Given the description of an element on the screen output the (x, y) to click on. 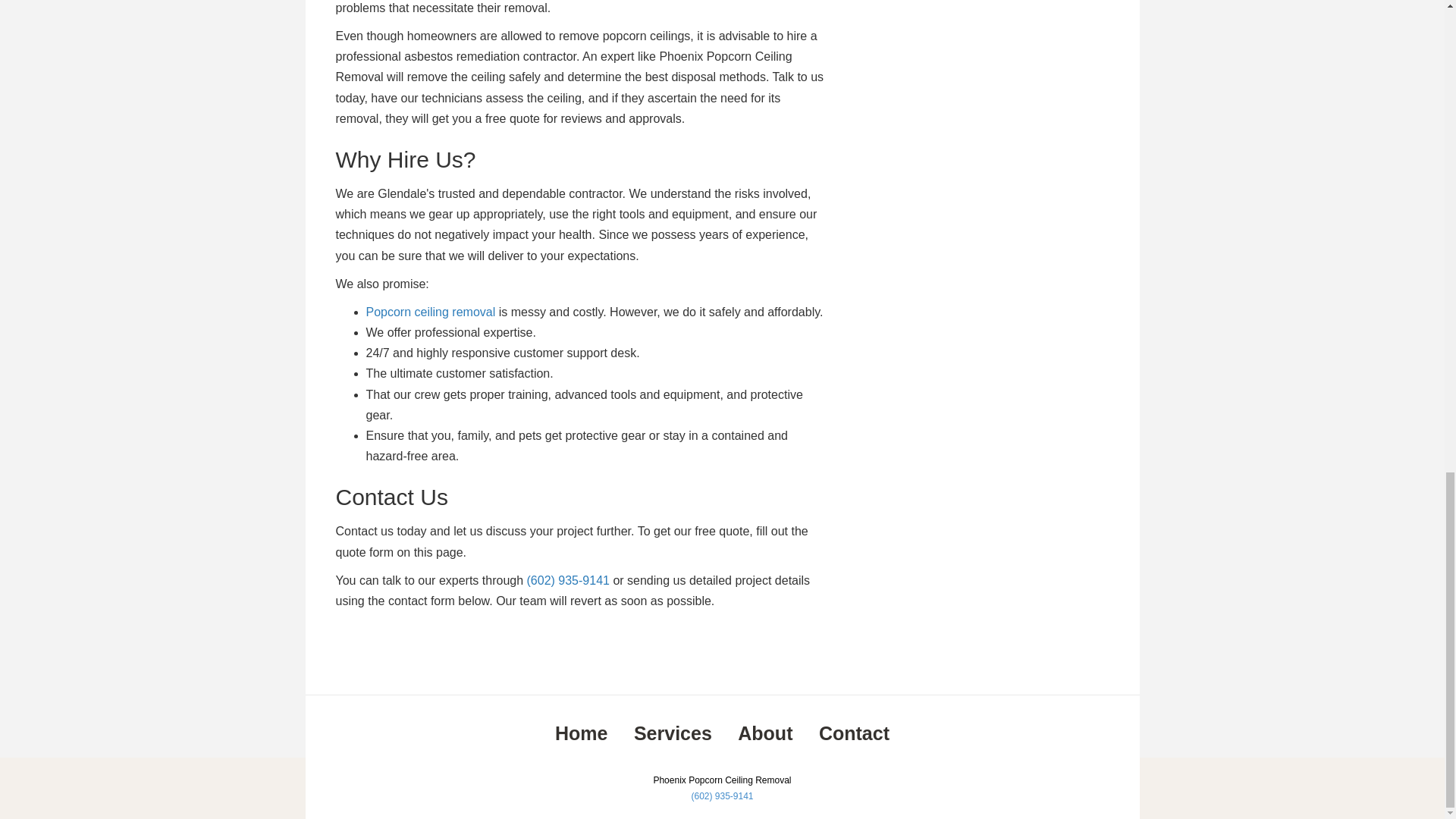
Home (580, 732)
Popcorn ceiling removal (430, 311)
Services (672, 732)
Contact (853, 732)
About (765, 732)
